Given the description of an element on the screen output the (x, y) to click on. 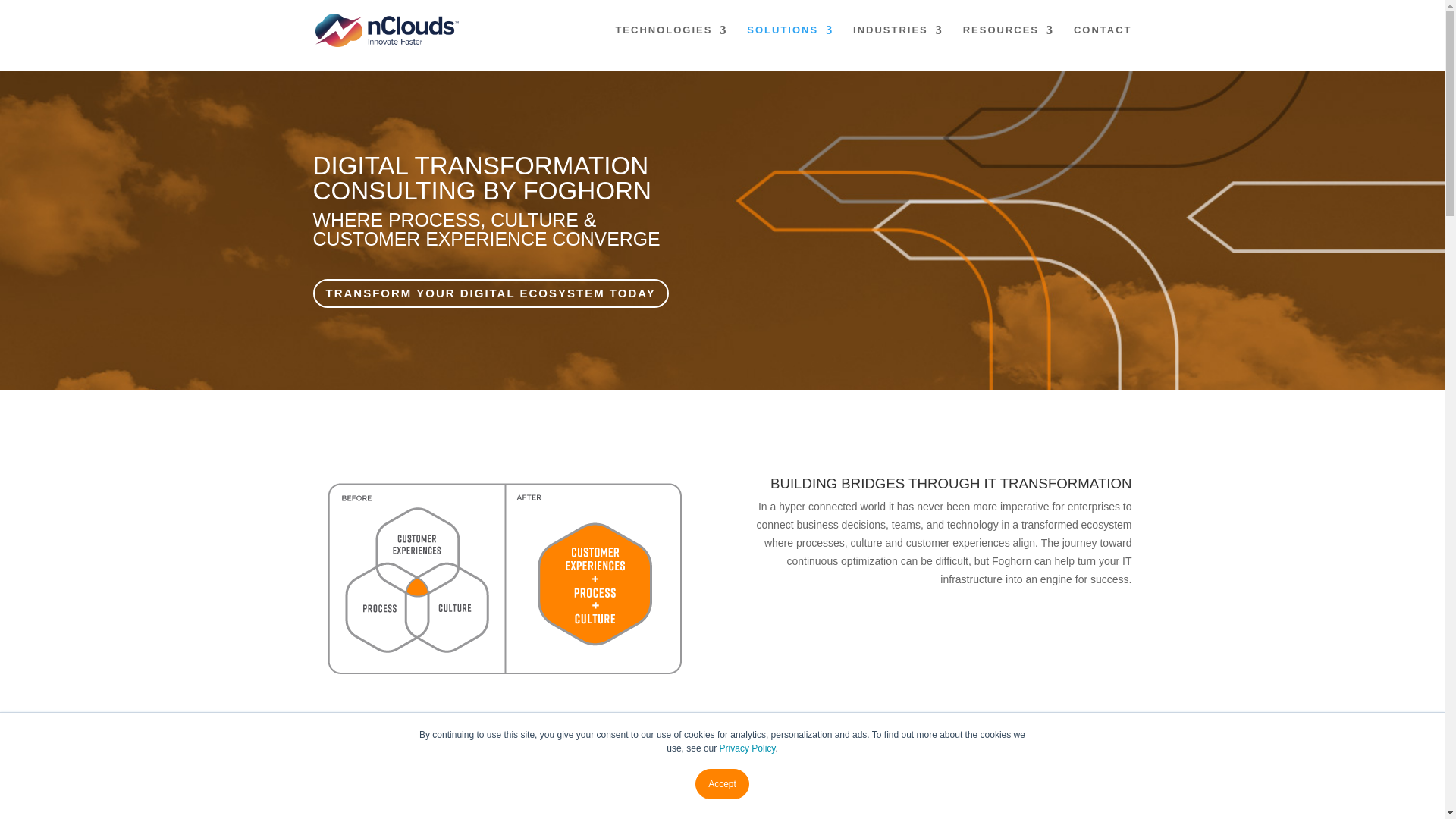
Privacy Policy (747, 747)
SOLUTIONS (789, 42)
Accept (722, 784)
TECHNOLOGIES (670, 42)
